Given the description of an element on the screen output the (x, y) to click on. 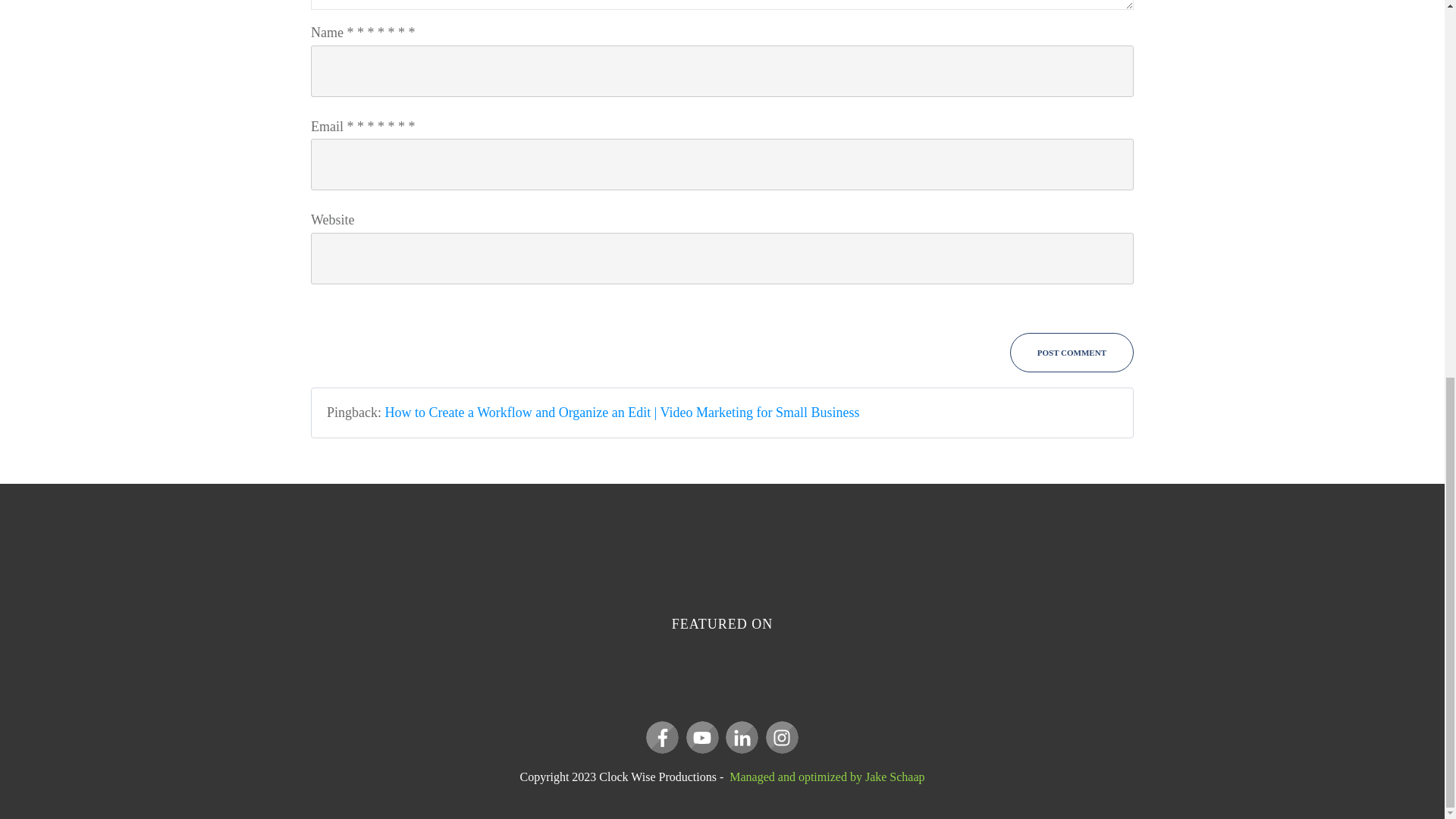
POST COMMENT (1072, 352)
Managed and optimized by Jake Schaap (826, 776)
Press Banner (721, 668)
